Given the description of an element on the screen output the (x, y) to click on. 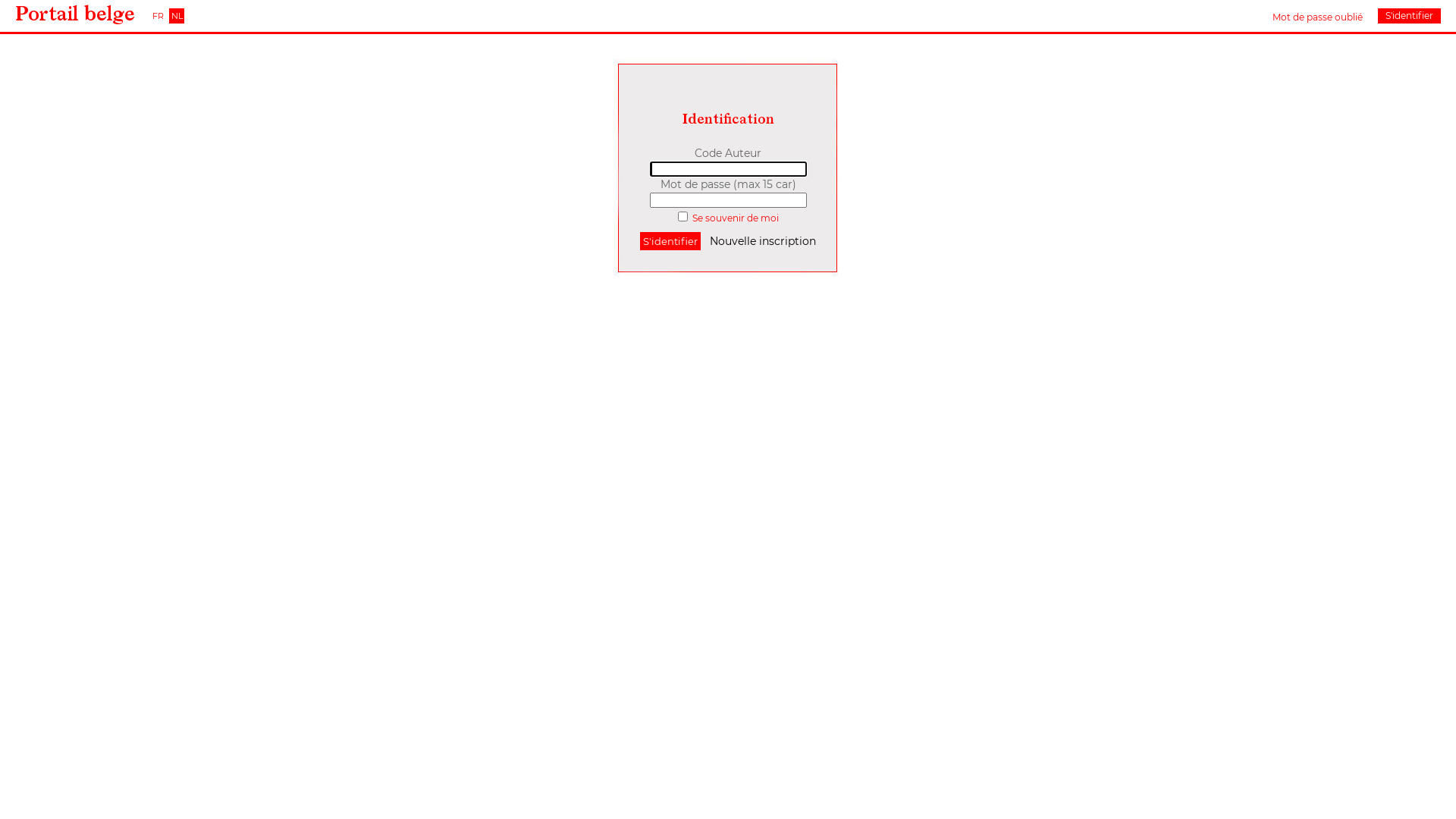
S'identifier Element type: text (1408, 15)
Portail belge Element type: text (74, 14)
FR Element type: text (157, 15)
NL Element type: text (176, 15)
S'identifier Element type: text (670, 241)
Nouvelle inscription Element type: text (762, 240)
